Given the description of an element on the screen output the (x, y) to click on. 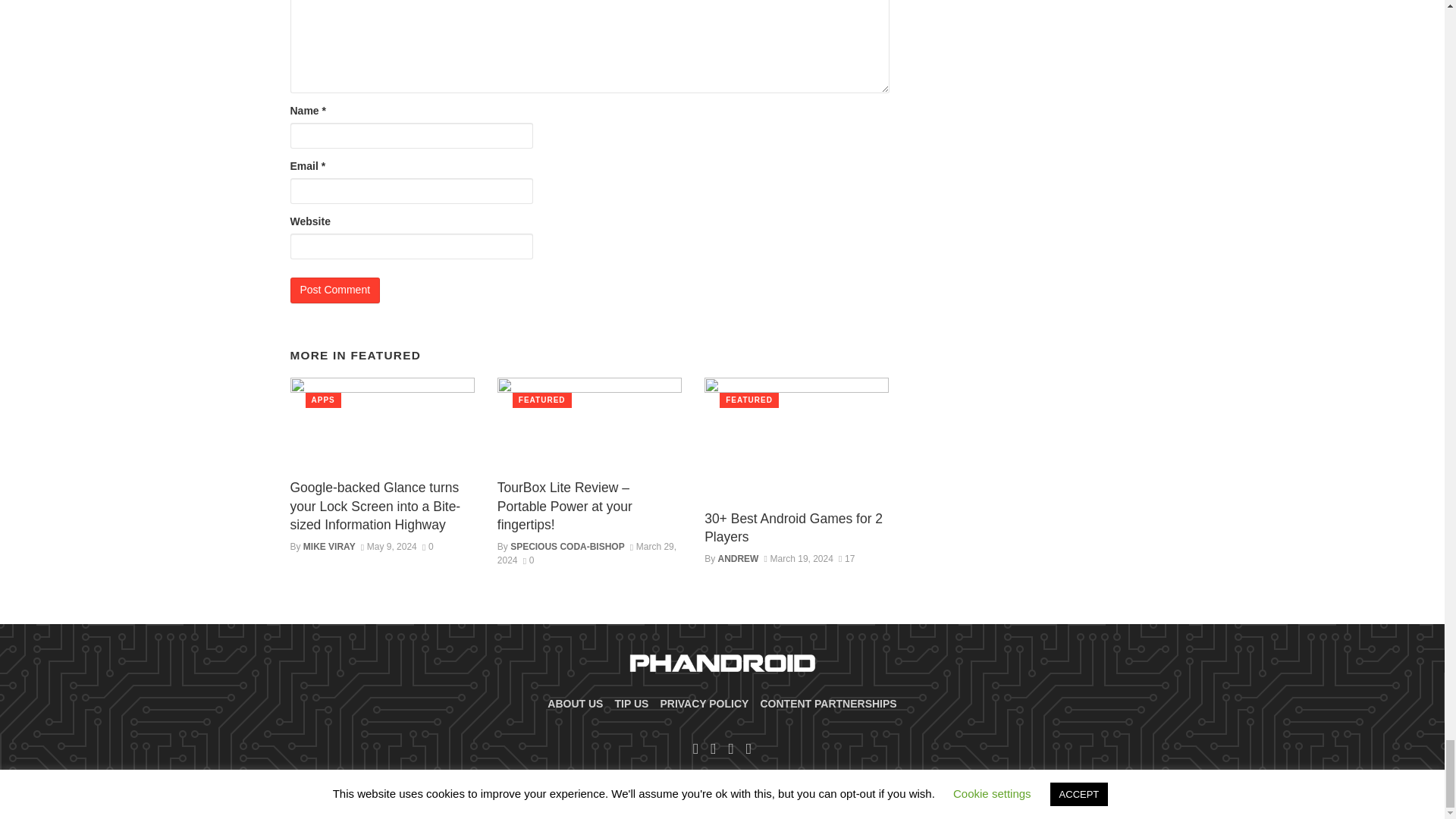
Post Comment (334, 290)
